Given the description of an element on the screen output the (x, y) to click on. 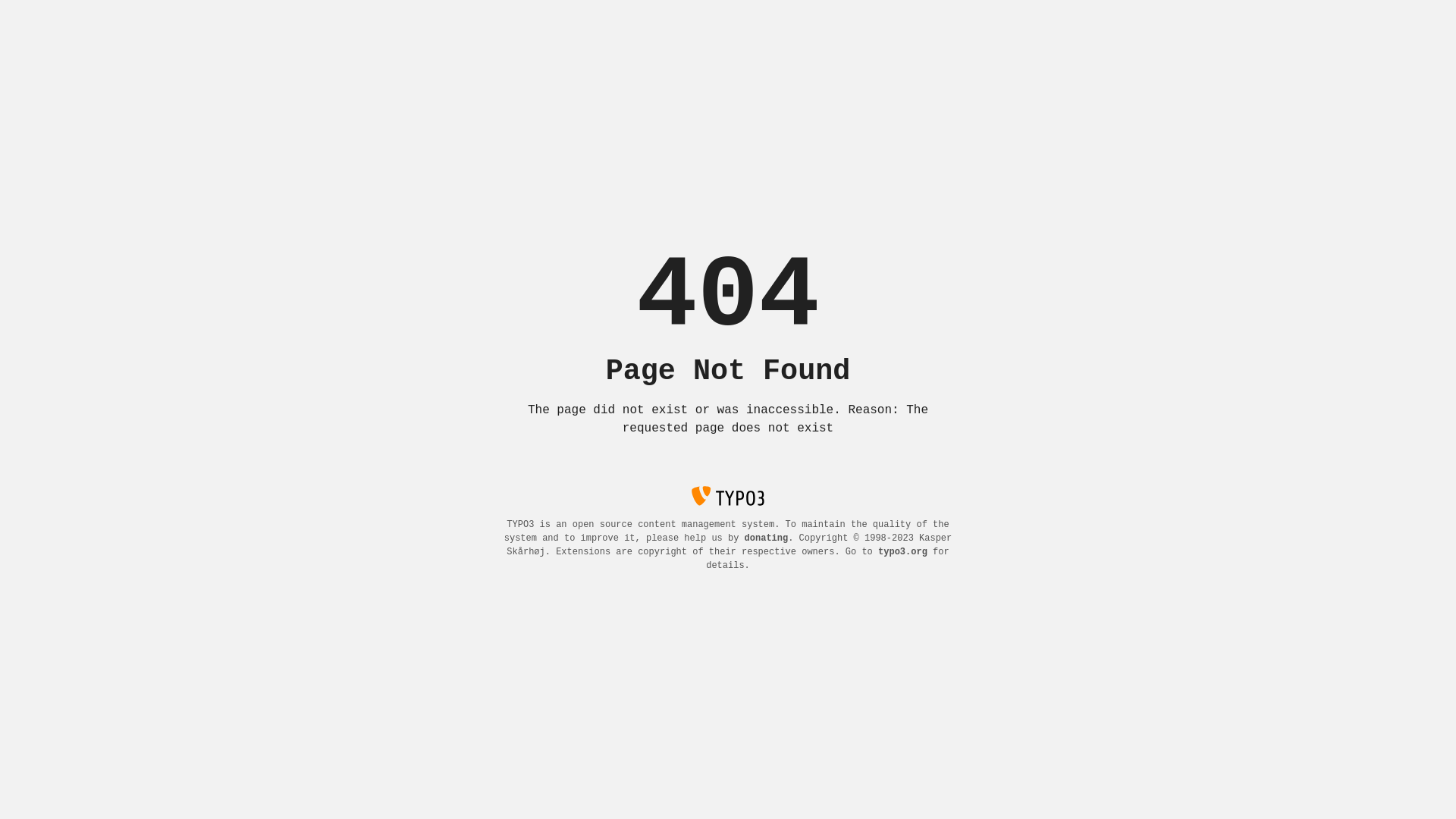
typo3.org Element type: text (902, 551)
donating Element type: text (766, 538)
